Given the description of an element on the screen output the (x, y) to click on. 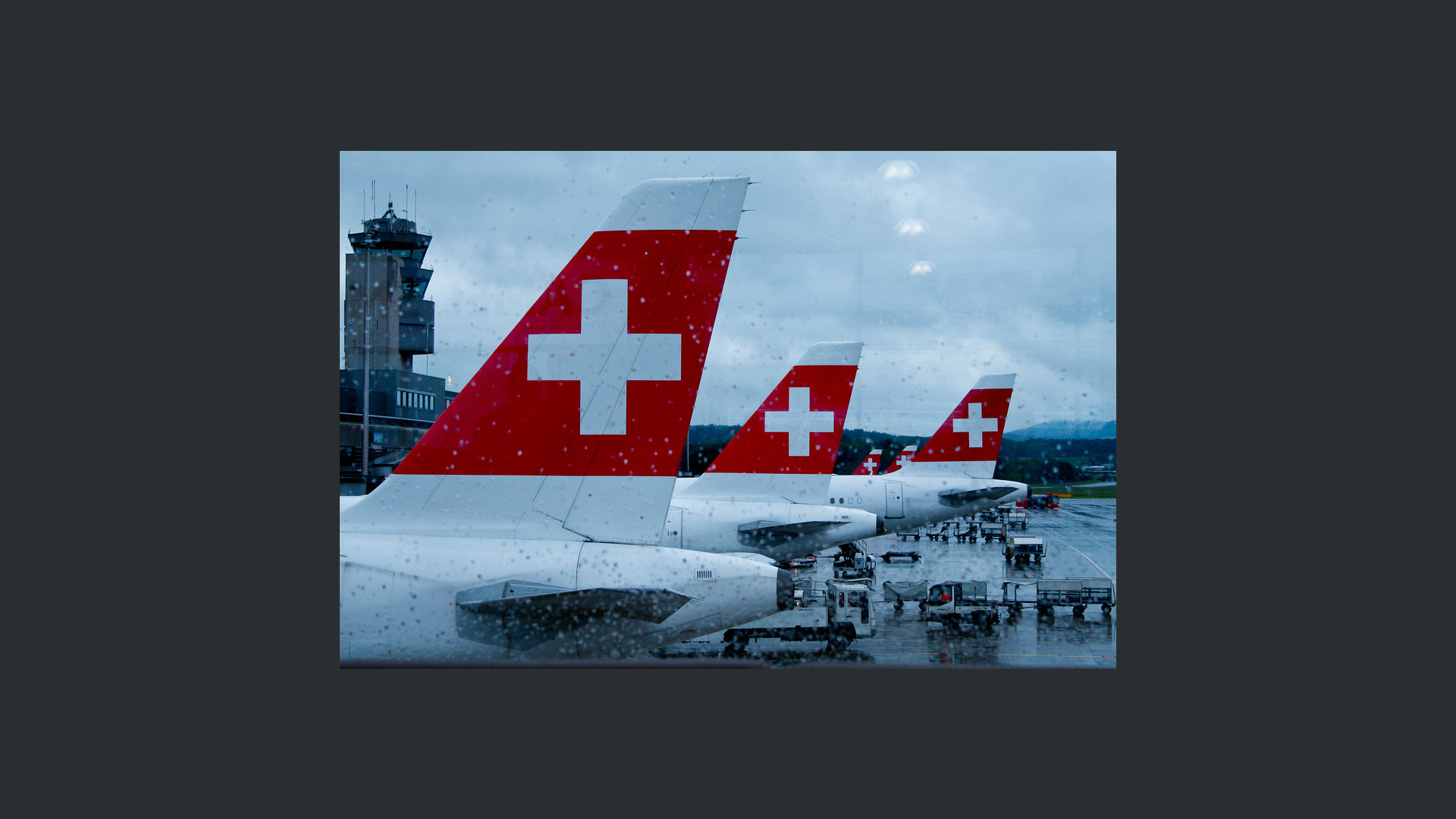
BROWSE Element type: text (722, 70)
Slideshow Element type: hover (1259, 274)
alceste Element type: text (251, 110)
BUY PHOTOS Element type: text (1371, 274)
SmugMug Element type: hover (59, 22)
SEARCH Element type: text (773, 70)
Share Gallery Element type: hover (1222, 274)
Search "Happy Few" for photos Element type: hover (1380, 22)
Download All Element type: hover (1296, 274)
HOME Element type: text (673, 70)
Portfolio Element type: text (60, 213)
